Given the description of an element on the screen output the (x, y) to click on. 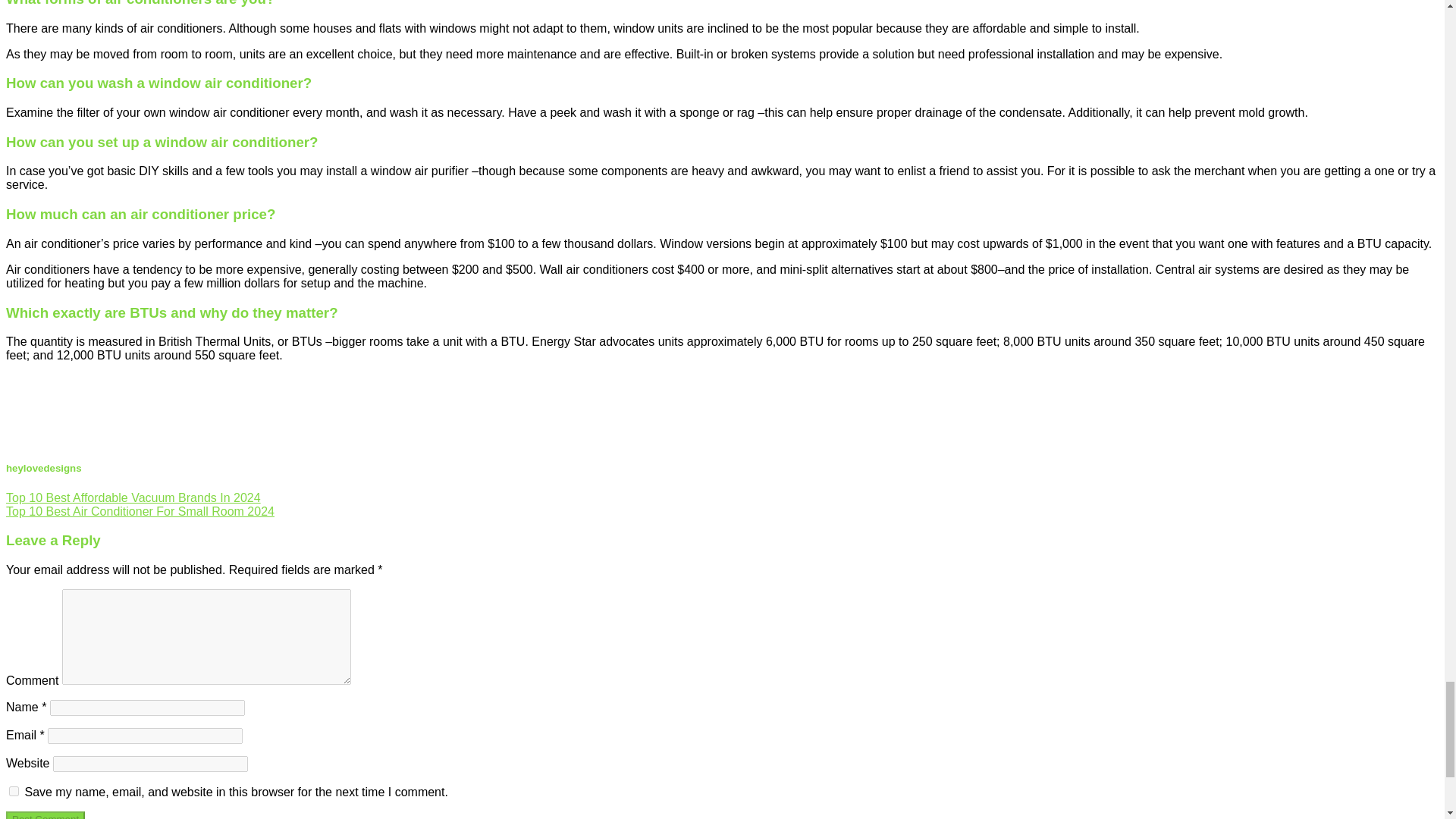
Post Comment (44, 815)
yes (13, 791)
